Given the description of an element on the screen output the (x, y) to click on. 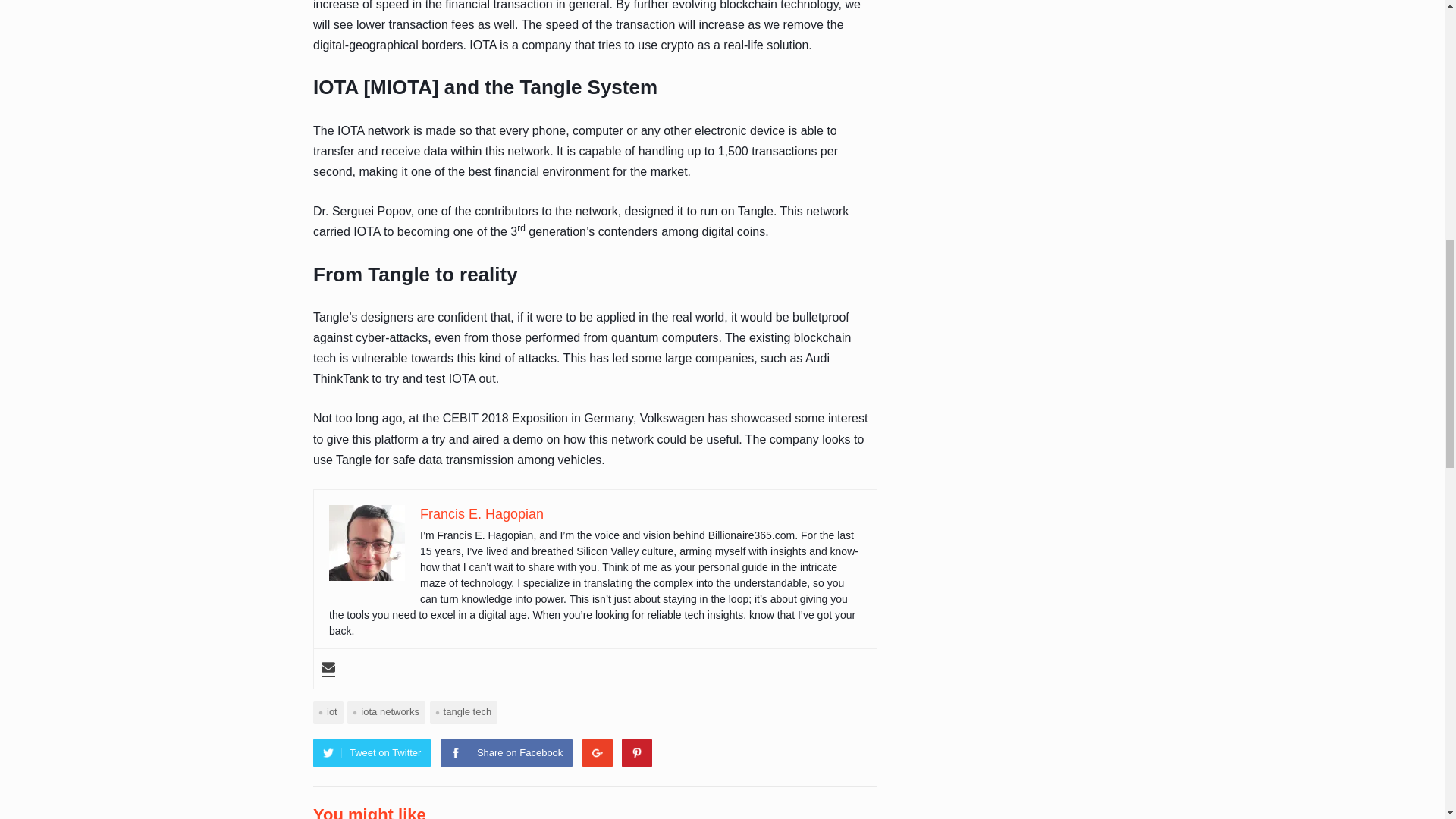
iota networks (386, 712)
Francis E. Hagopian (481, 514)
iot (328, 712)
